Given the description of an element on the screen output the (x, y) to click on. 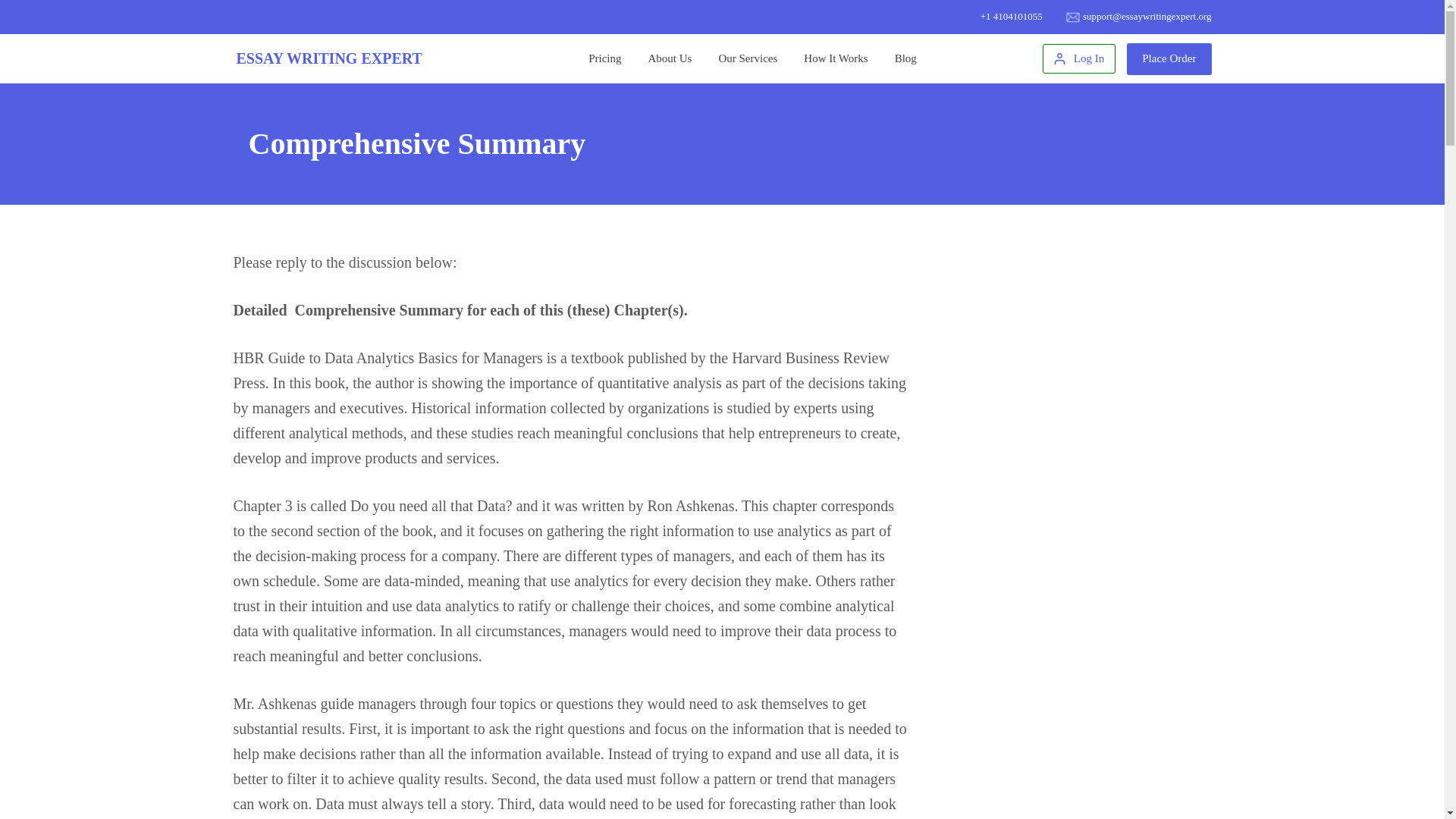
Place Order (1168, 58)
Skip to content (15, 7)
Log In (1078, 58)
ESSAY WRITING EXPERT (328, 57)
Blog (905, 58)
About Us (669, 58)
How It Works (835, 58)
Our Services (747, 58)
Pricing (604, 58)
